Given the description of an element on the screen output the (x, y) to click on. 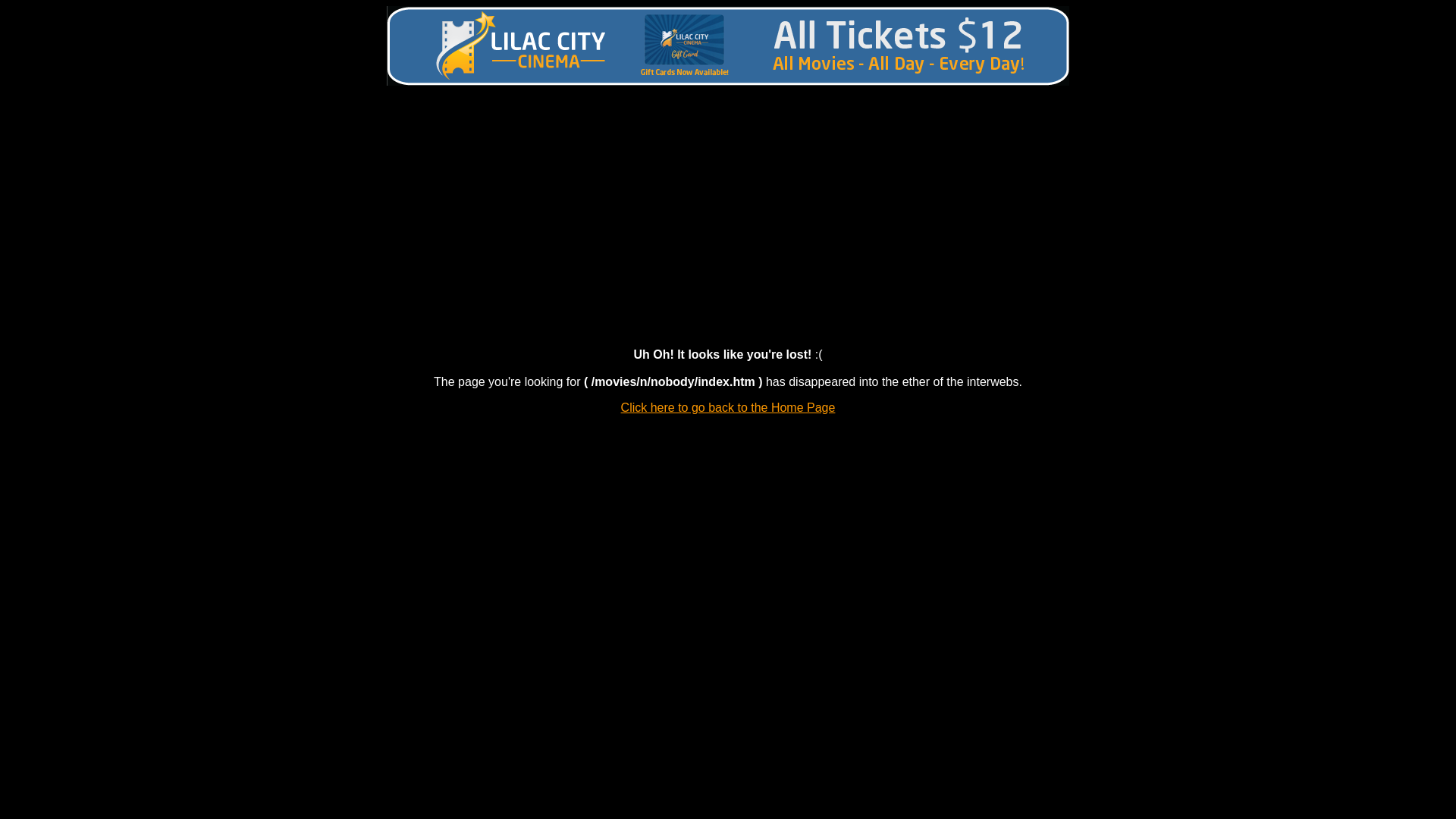
Click here to go back to the Home Page Element type: text (728, 407)
